Given the description of an element on the screen output the (x, y) to click on. 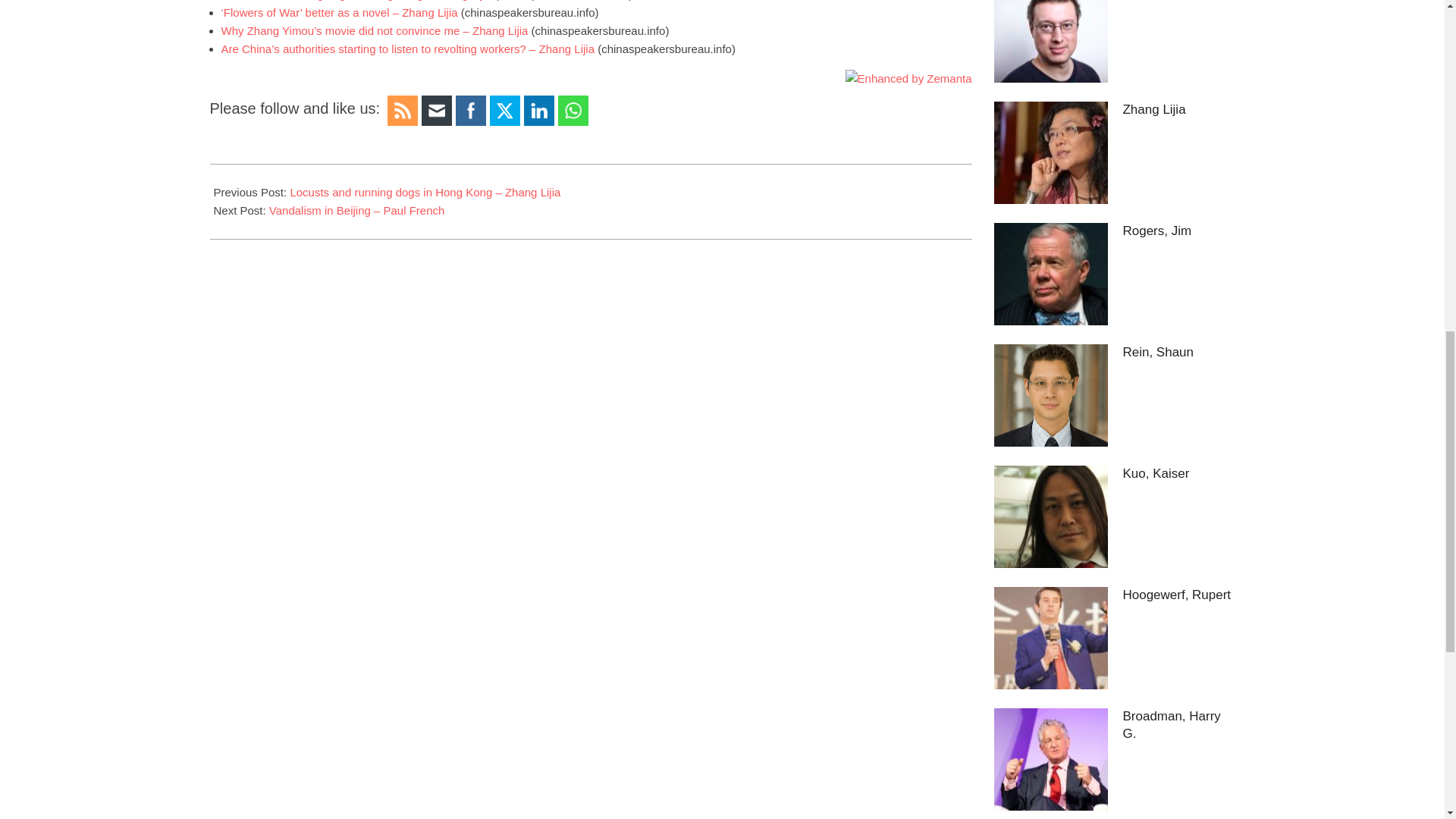
RSS (402, 110)
LinkedIn (539, 110)
Facebook (471, 110)
Follow by Email (436, 110)
Twitter (504, 111)
